Given the description of an element on the screen output the (x, y) to click on. 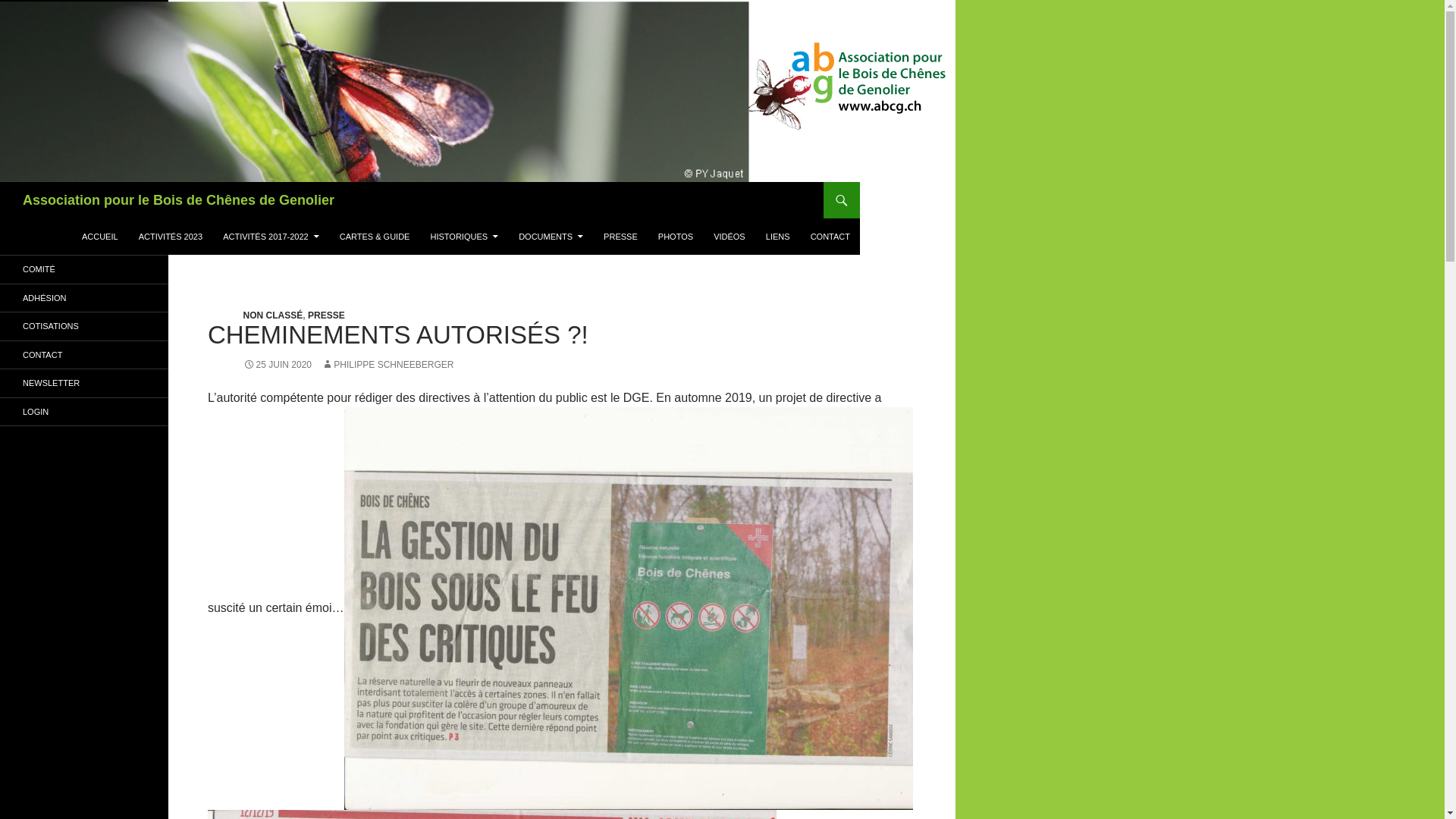
DOCUMENTS Element type: text (550, 236)
ACCUEIL Element type: text (99, 236)
Recherche Element type: text (3, 181)
LOGIN Element type: text (84, 411)
25 JUIN 2020 Element type: text (277, 364)
CONTACT Element type: text (830, 236)
CARTES & GUIDE Element type: text (374, 236)
ALLER AU CONTENU Element type: text (81, 217)
COTISATIONS Element type: text (84, 326)
HISTORIQUES Element type: text (464, 236)
PRESSE Element type: text (620, 236)
PHOTOS Element type: text (675, 236)
CONTACT Element type: text (84, 355)
PHILIPPE SCHNEEBERGER Element type: text (387, 364)
LIENS Element type: text (777, 236)
NEWSLETTER Element type: text (84, 383)
PRESSE Element type: text (326, 315)
